Given the description of an element on the screen output the (x, y) to click on. 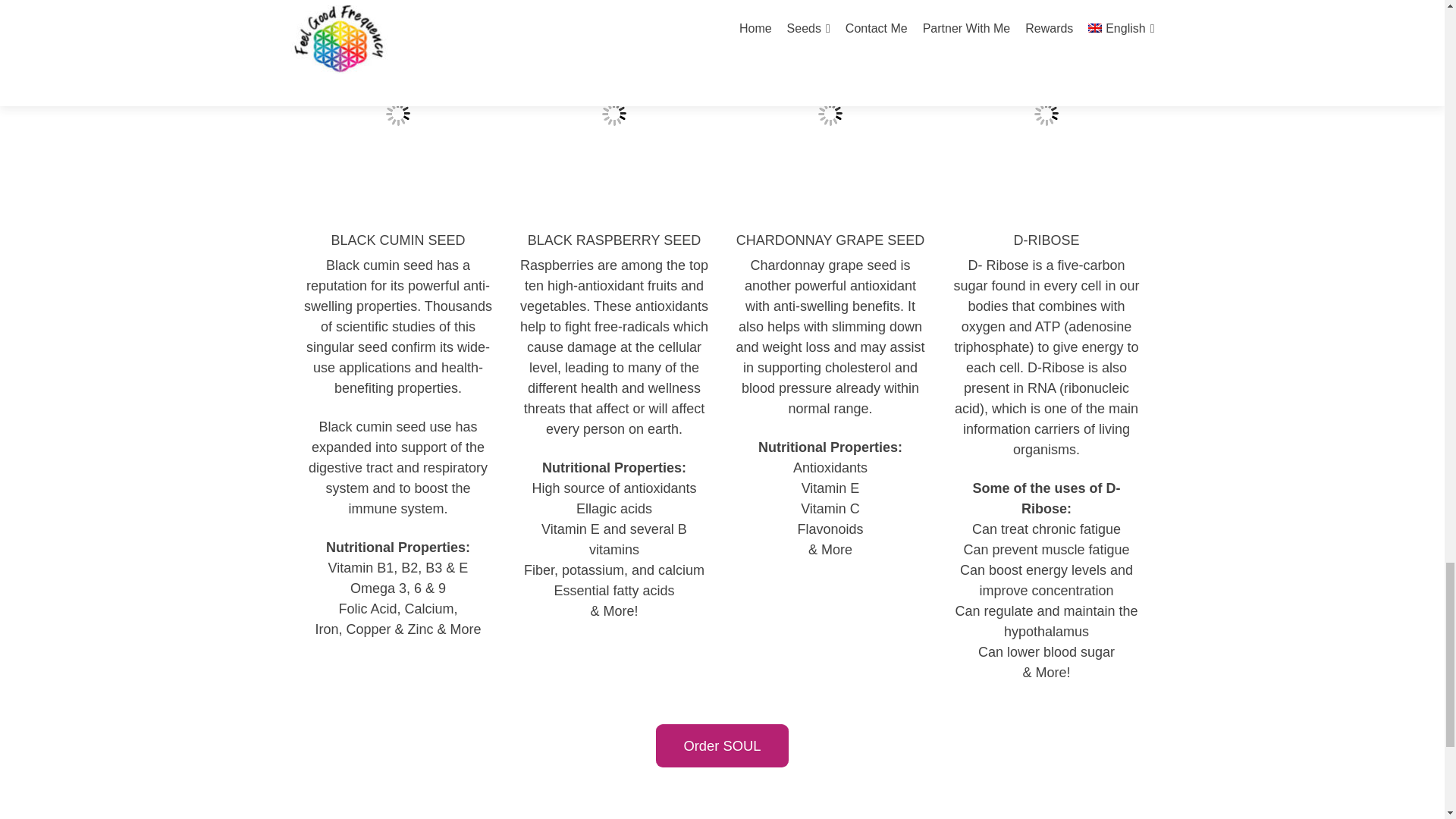
Order SOUL (722, 745)
